Given the description of an element on the screen output the (x, y) to click on. 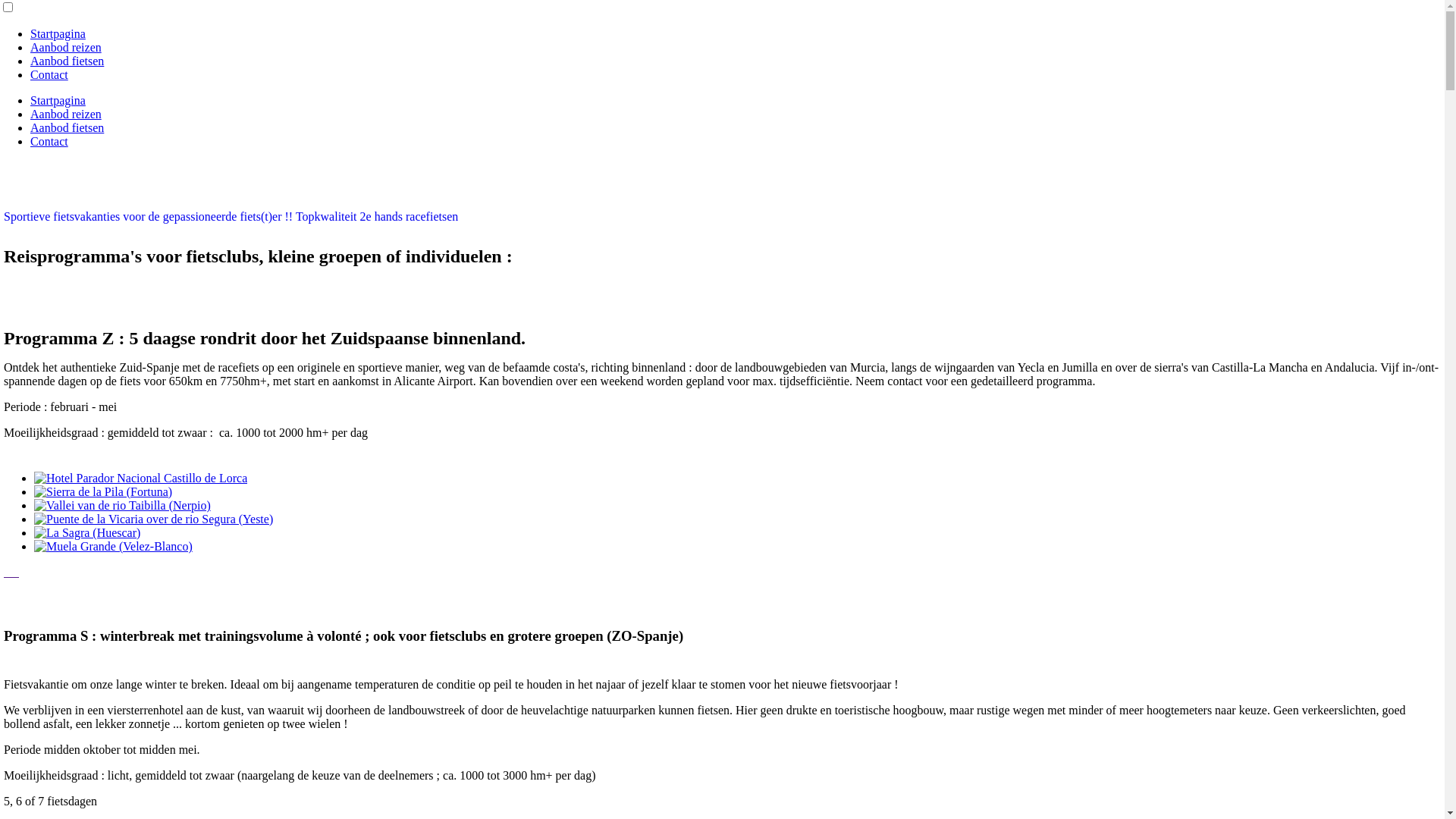
Aanbod reizen Element type: text (65, 46)
Contact Element type: text (49, 74)
Startpagina Element type: text (57, 33)
Contact Element type: text (49, 140)
Aanbod fietsen Element type: text (66, 60)
Startpagina Element type: text (57, 100)
Aanbod reizen Element type: text (65, 113)
Aanbod fietsen Element type: text (66, 127)
